Given the description of an element on the screen output the (x, y) to click on. 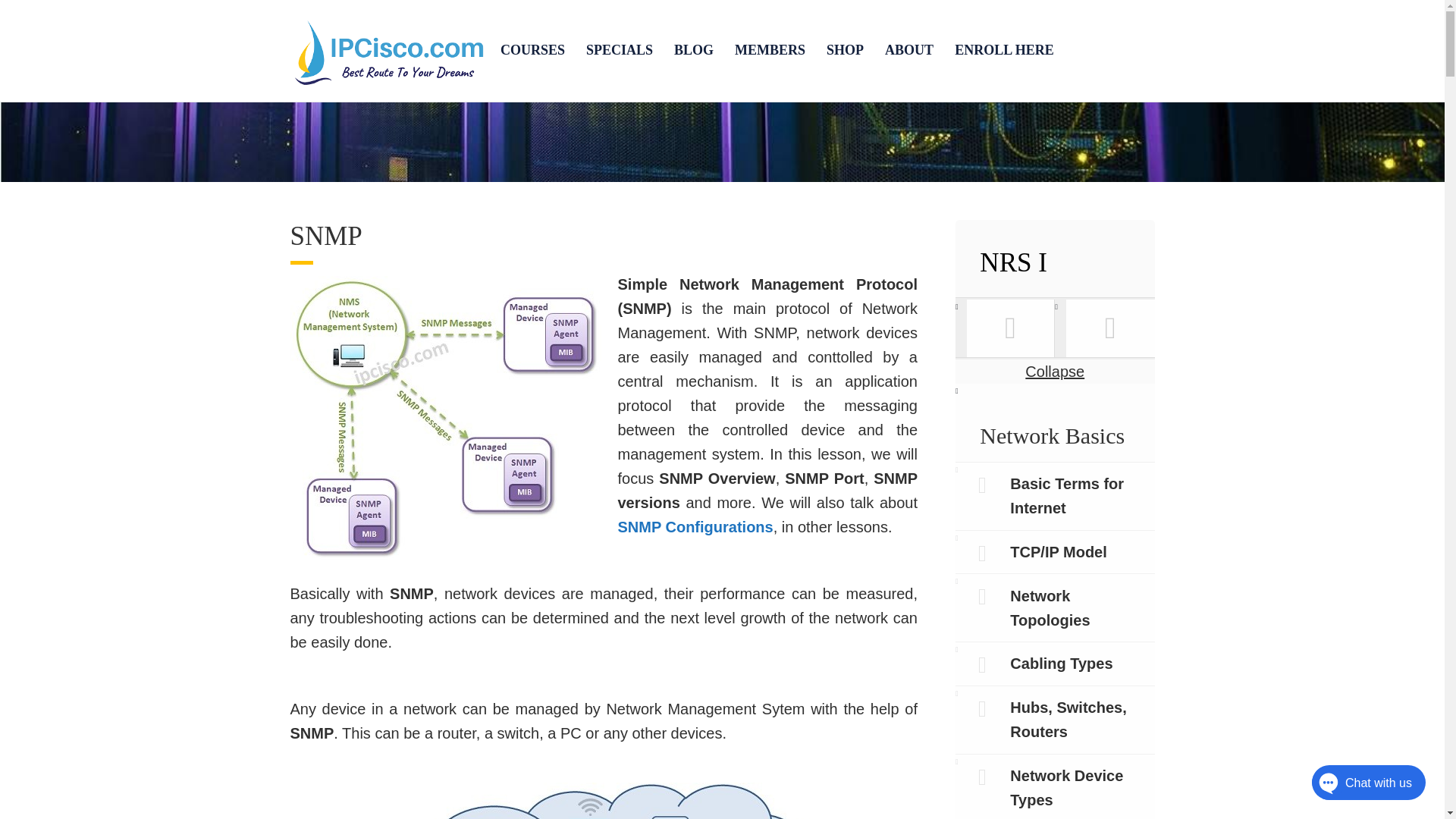
MPSL Label Distribution (1109, 328)
